Given the description of an element on the screen output the (x, y) to click on. 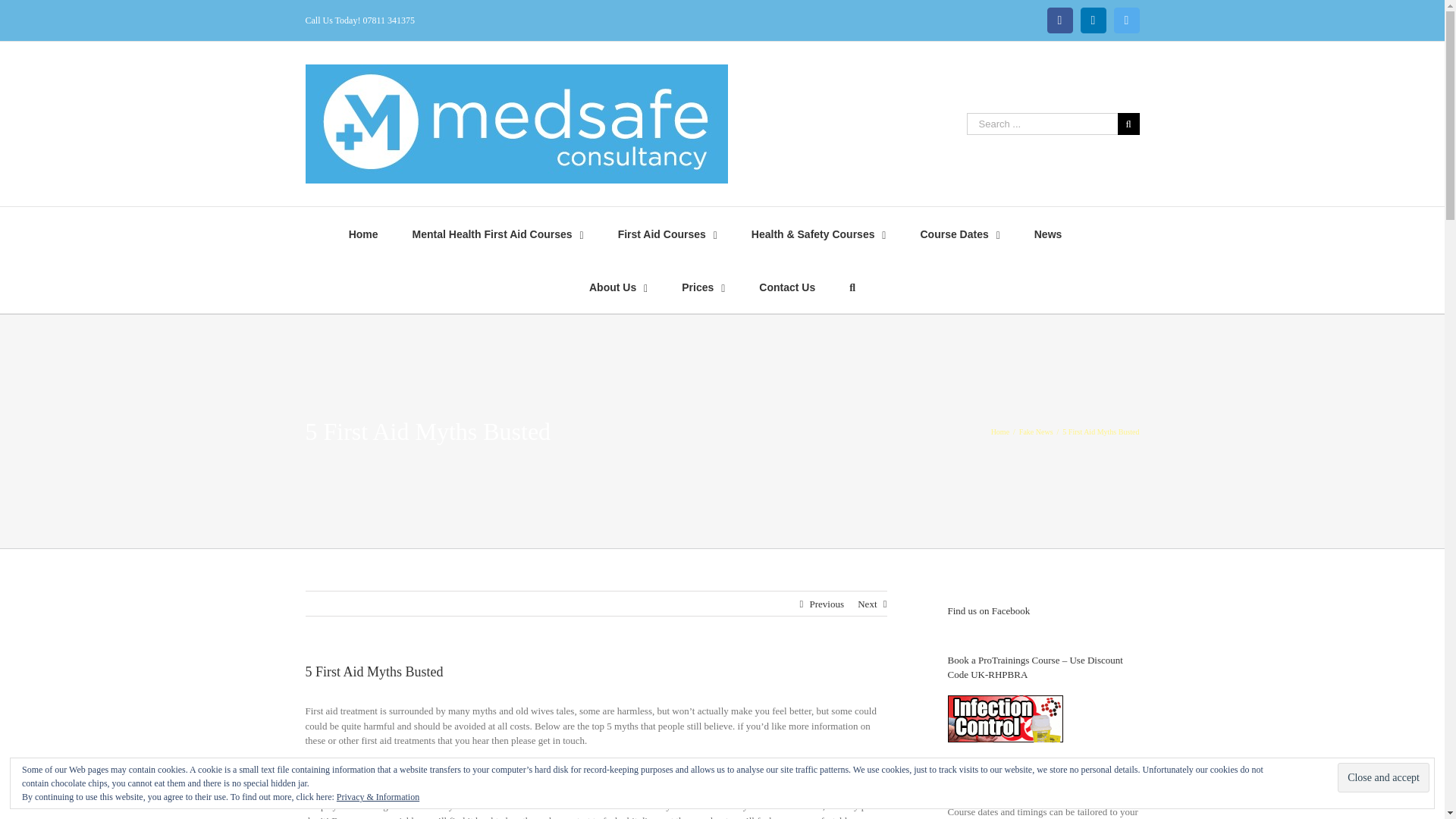
LinkedIn (1092, 20)
Facebook (1058, 20)
Course Dates (959, 233)
Twitter (1125, 20)
About Us (618, 286)
Twitter (1125, 20)
LinkedIn (1092, 20)
Mental Health First Aid Courses (497, 233)
First Aid Courses (667, 233)
Facebook (1058, 20)
